Given the description of an element on the screen output the (x, y) to click on. 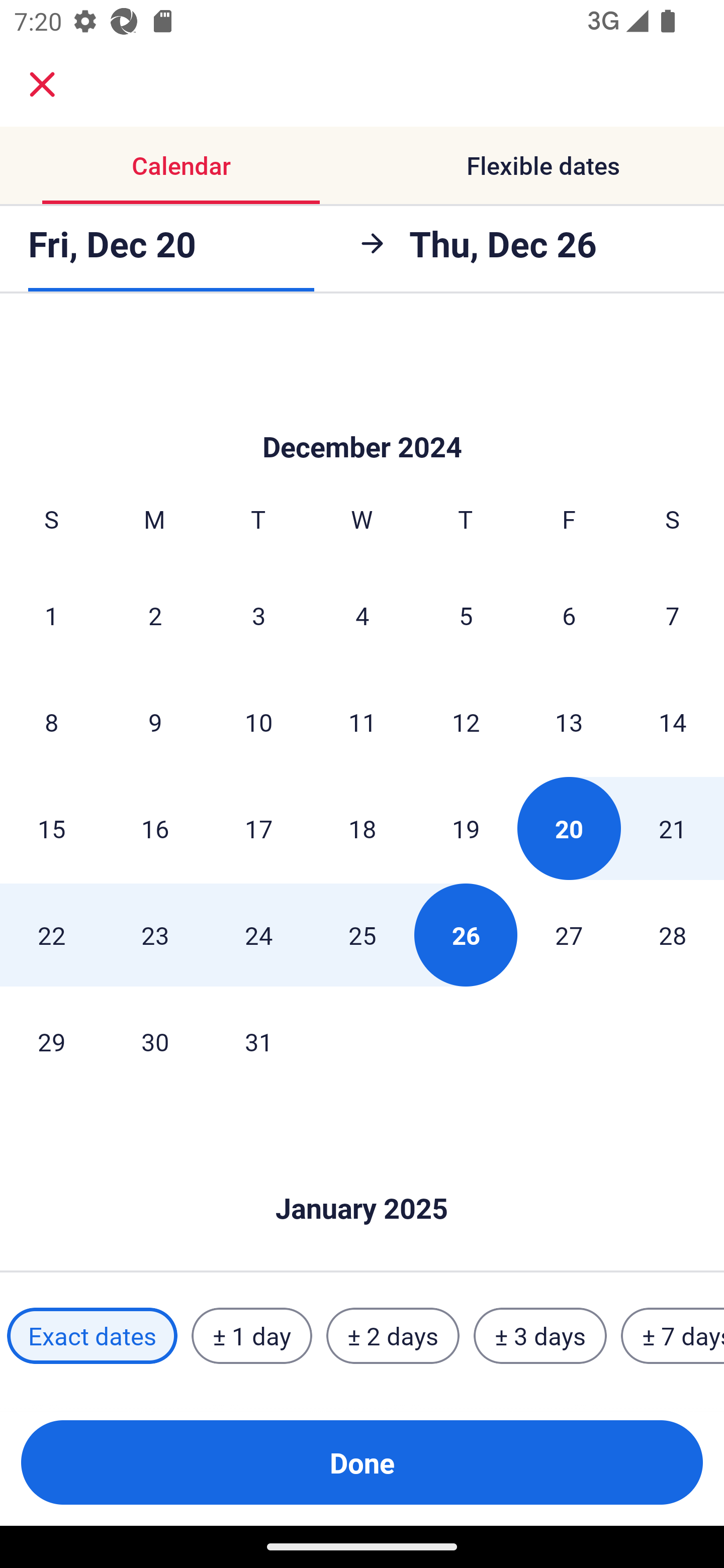
close. (42, 84)
Flexible dates (542, 164)
Skip to Done (362, 416)
1 Sunday, December 1, 2024 (51, 615)
2 Monday, December 2, 2024 (155, 615)
3 Tuesday, December 3, 2024 (258, 615)
4 Wednesday, December 4, 2024 (362, 615)
5 Thursday, December 5, 2024 (465, 615)
6 Friday, December 6, 2024 (569, 615)
7 Saturday, December 7, 2024 (672, 615)
8 Sunday, December 8, 2024 (51, 722)
9 Monday, December 9, 2024 (155, 722)
10 Tuesday, December 10, 2024 (258, 722)
11 Wednesday, December 11, 2024 (362, 722)
12 Thursday, December 12, 2024 (465, 722)
13 Friday, December 13, 2024 (569, 722)
14 Saturday, December 14, 2024 (672, 722)
15 Sunday, December 15, 2024 (51, 828)
16 Monday, December 16, 2024 (155, 828)
17 Tuesday, December 17, 2024 (258, 828)
18 Wednesday, December 18, 2024 (362, 828)
19 Thursday, December 19, 2024 (465, 828)
27 Friday, December 27, 2024 (569, 934)
28 Saturday, December 28, 2024 (672, 934)
29 Sunday, December 29, 2024 (51, 1040)
30 Monday, December 30, 2024 (155, 1040)
31 Tuesday, December 31, 2024 (258, 1040)
Skip to Done (362, 1178)
Exact dates (92, 1335)
± 1 day (251, 1335)
± 2 days (392, 1335)
± 3 days (539, 1335)
± 7 days (672, 1335)
Done (361, 1462)
